Given the description of an element on the screen output the (x, y) to click on. 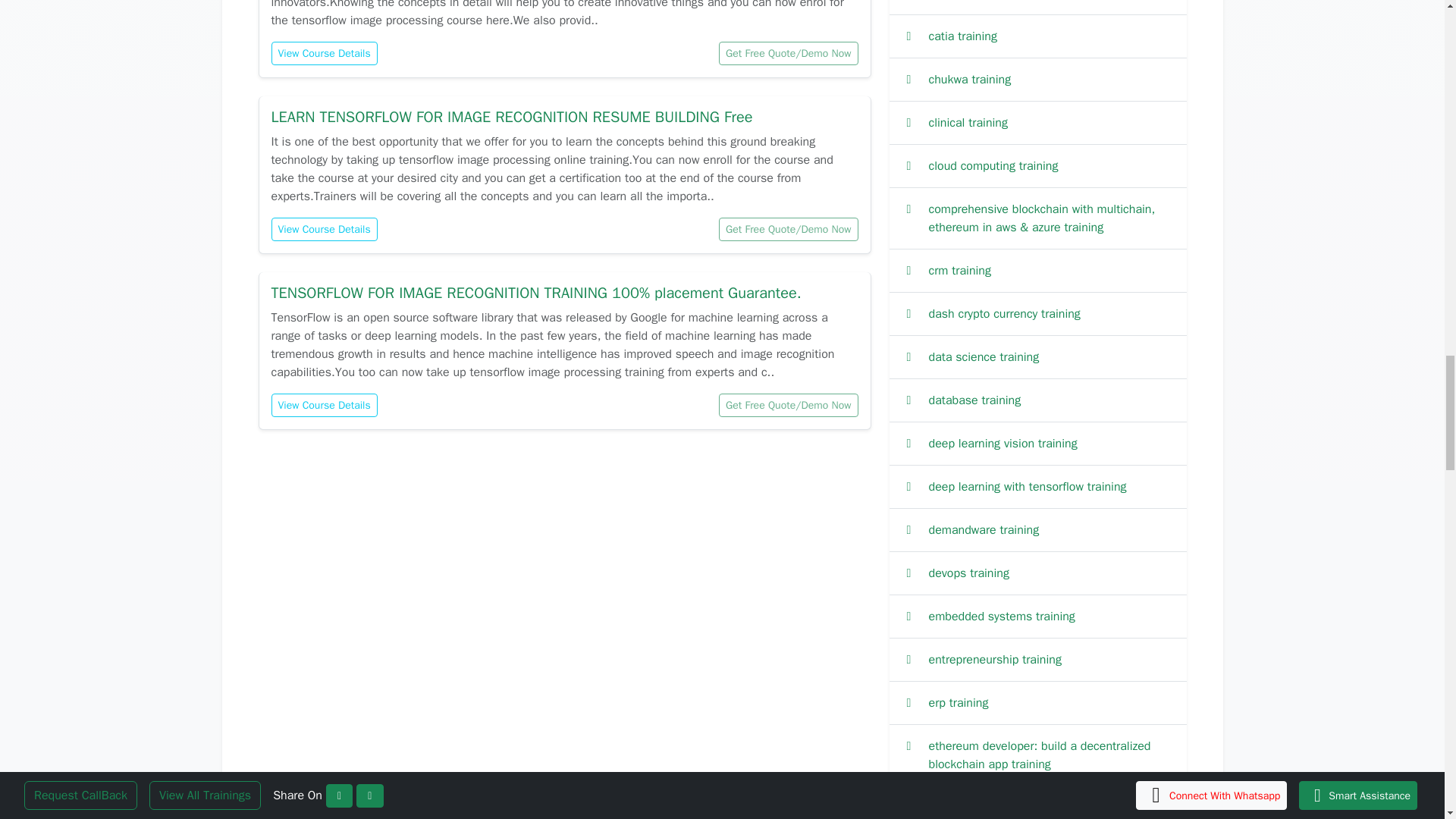
View Course Details (323, 53)
LEARN TENSORFLOW FOR IMAGE RECOGNITION RESUME BUILDING Free (511, 116)
